Given the description of an element on the screen output the (x, y) to click on. 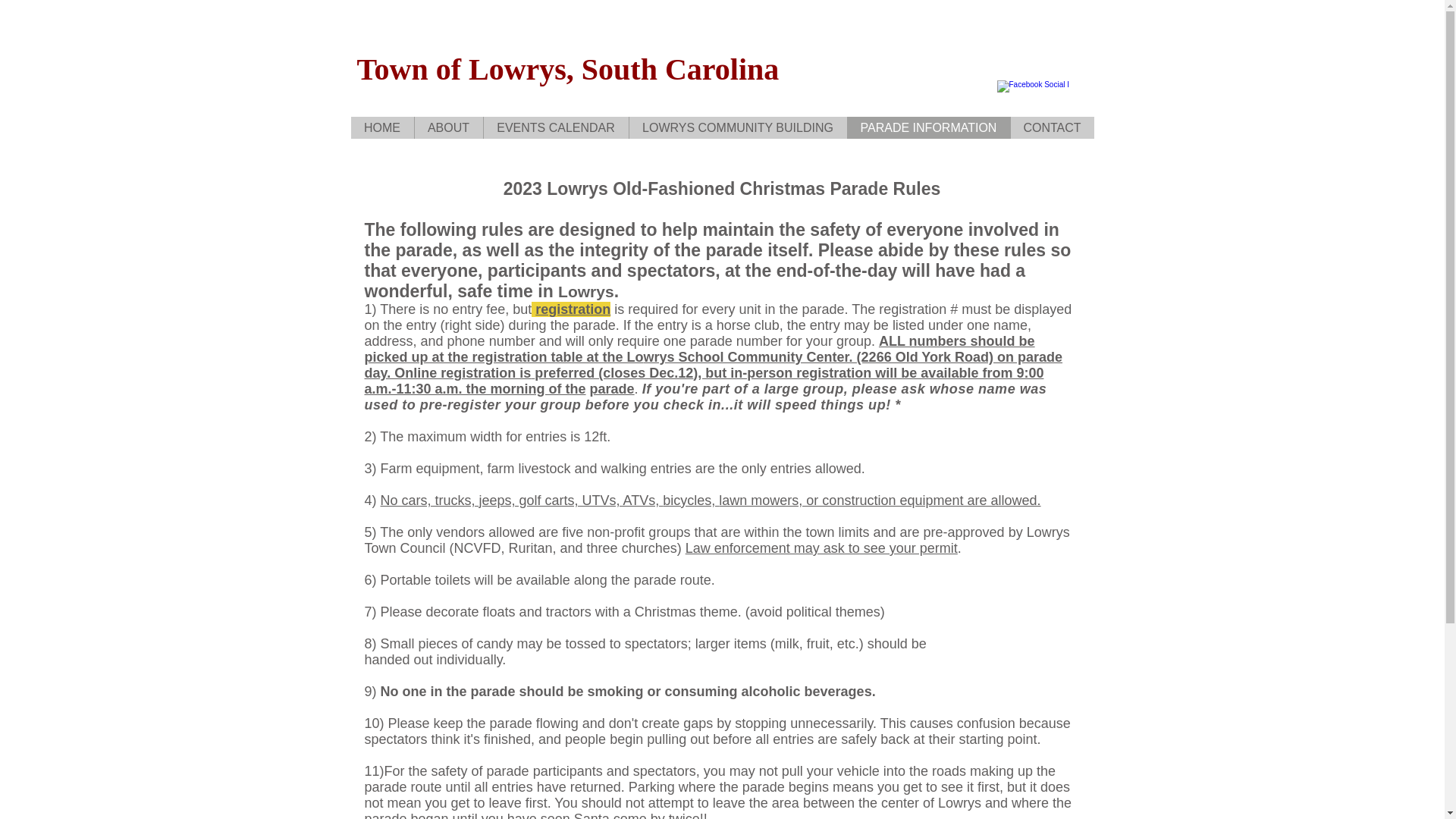
ABOUT (448, 127)
PARADE INFORMATION (927, 127)
EVENTS CALENDAR (554, 127)
LOWRYS COMMUNITY BUILDING (736, 127)
Town of Lowrys, South Carolina (567, 69)
CONTACT (1052, 127)
HOME (381, 127)
registration (572, 309)
